Given the description of an element on the screen output the (x, y) to click on. 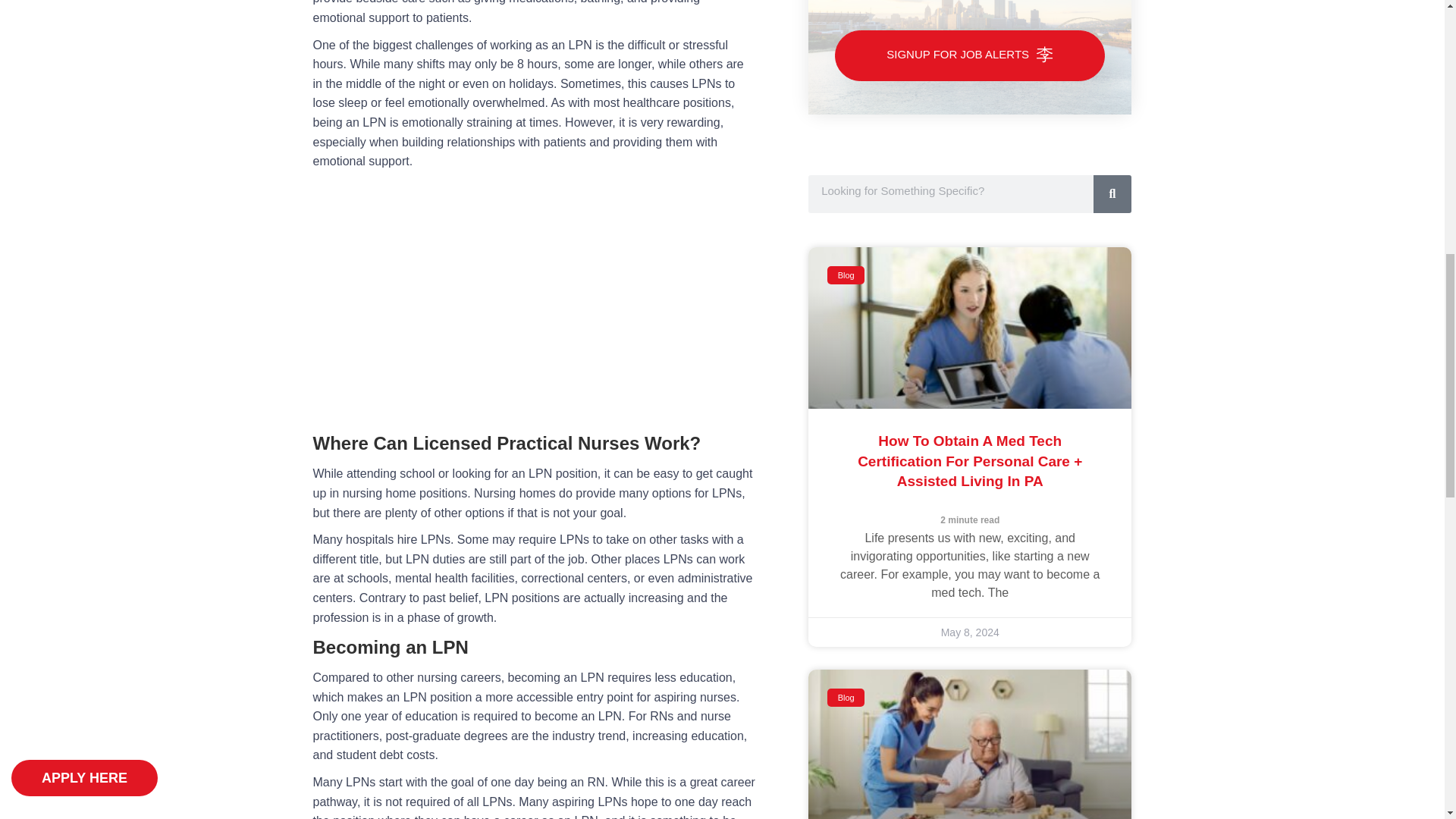
YouTube video player (534, 298)
